Given the description of an element on the screen output the (x, y) to click on. 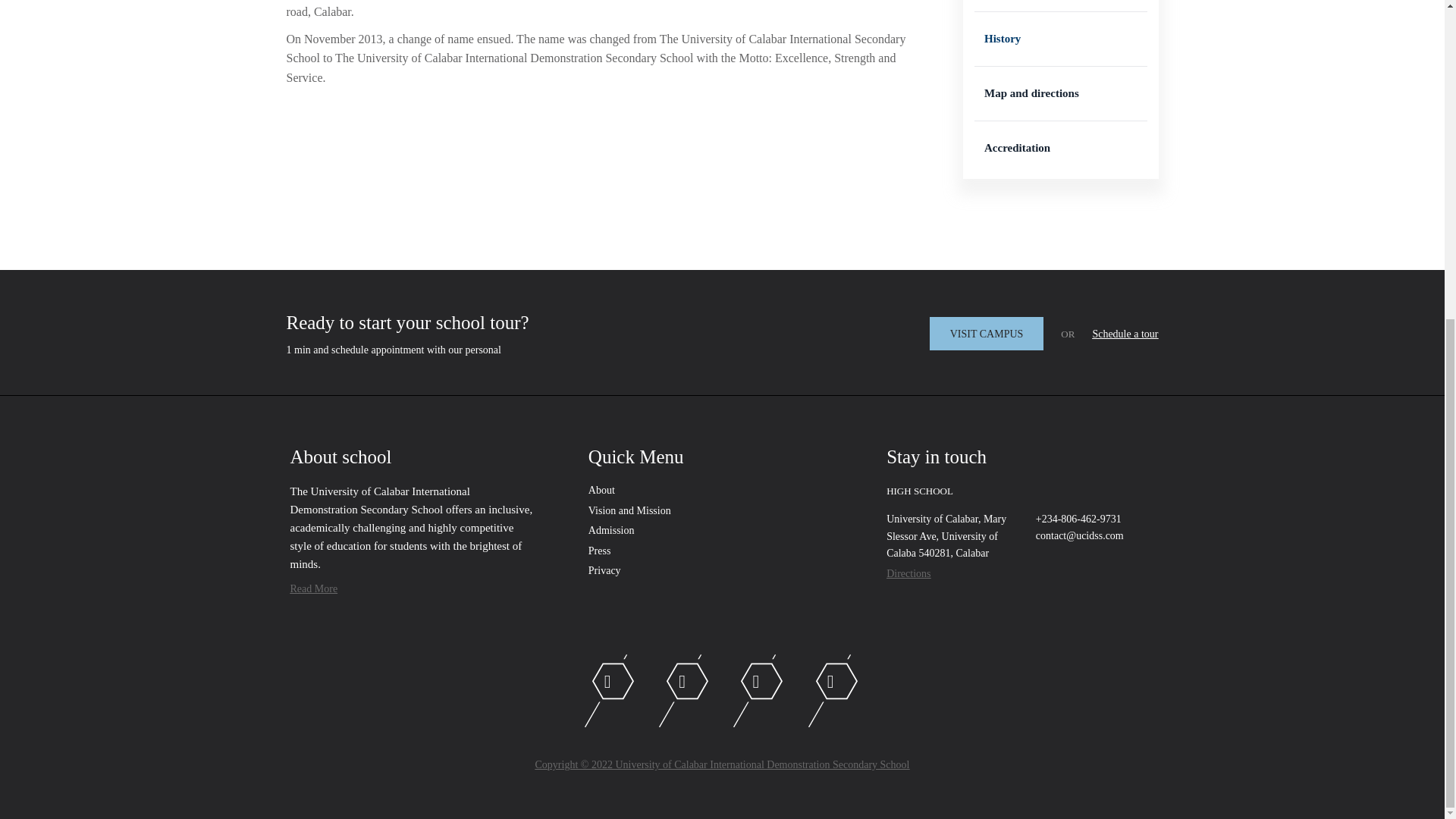
Contact (986, 333)
Home 2 (599, 550)
Admission (611, 530)
Contact (1124, 333)
About Us (601, 490)
Read More (313, 588)
Vision and mission (629, 510)
